Given the description of an element on the screen output the (x, y) to click on. 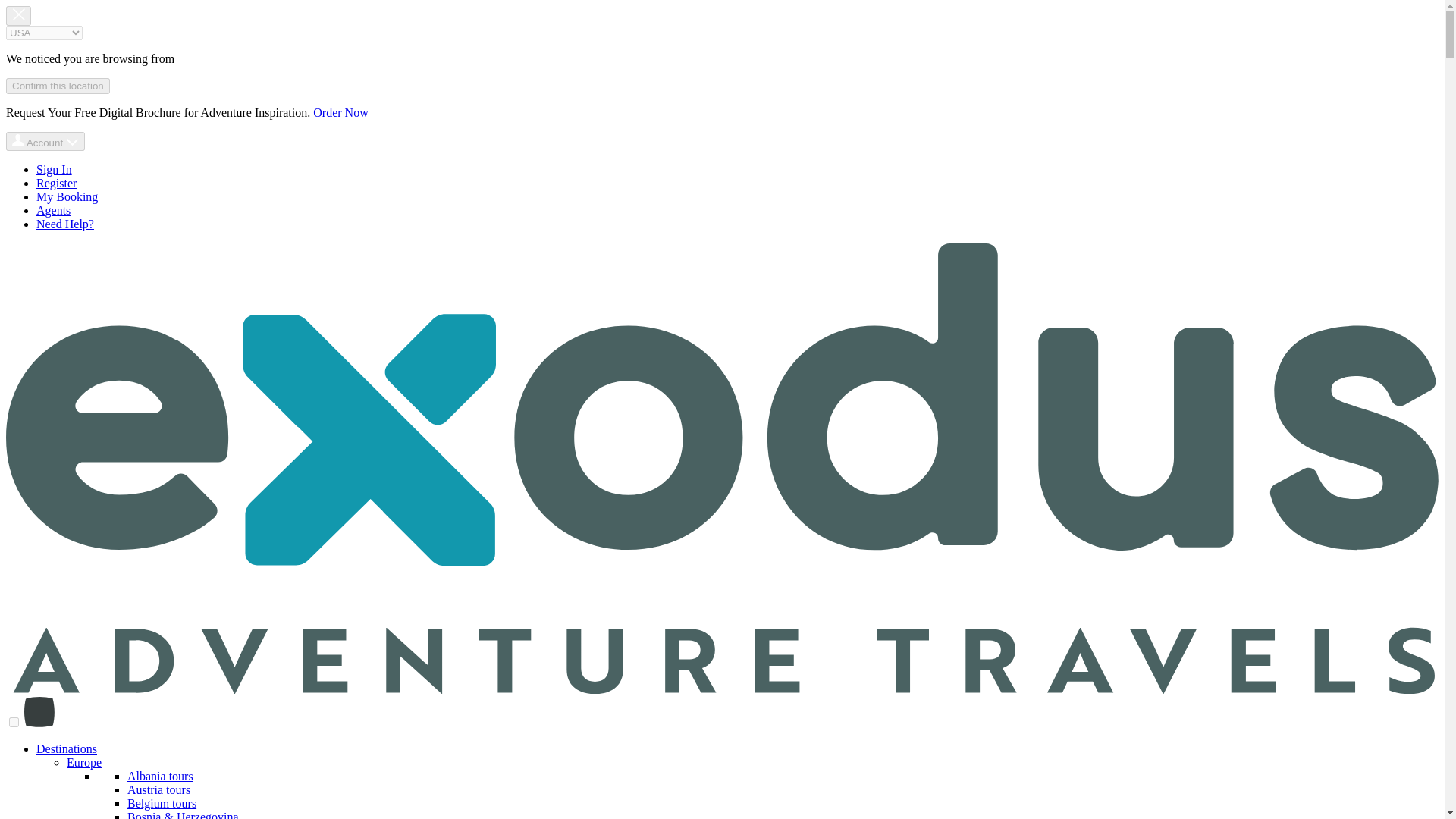
Agents (52, 210)
Austria tours (159, 789)
Sign In (53, 169)
Need Help? (65, 223)
Account (44, 140)
Europe (83, 762)
Order Now (340, 112)
Albania tours (160, 775)
Register (56, 182)
on (13, 722)
My Booking (66, 196)
My Booking (66, 196)
Belgium tours (162, 802)
Confirm this location (57, 85)
Sign In (53, 169)
